Given the description of an element on the screen output the (x, y) to click on. 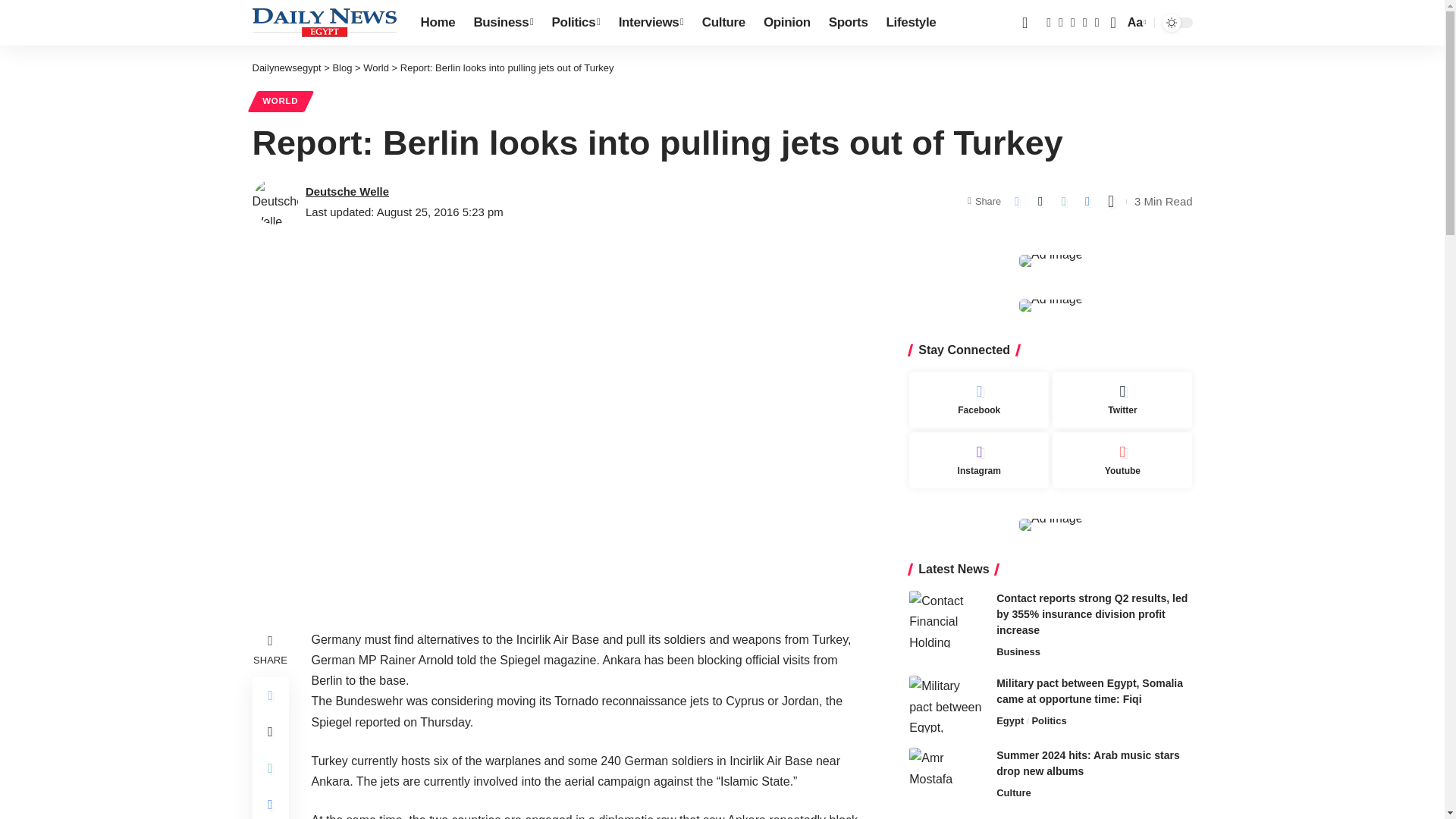
Dailynewsegypt (323, 22)
Culture (723, 22)
Business (502, 22)
Home (437, 22)
Opinion (786, 22)
Interviews (651, 22)
Politics (576, 22)
